Given the description of an element on the screen output the (x, y) to click on. 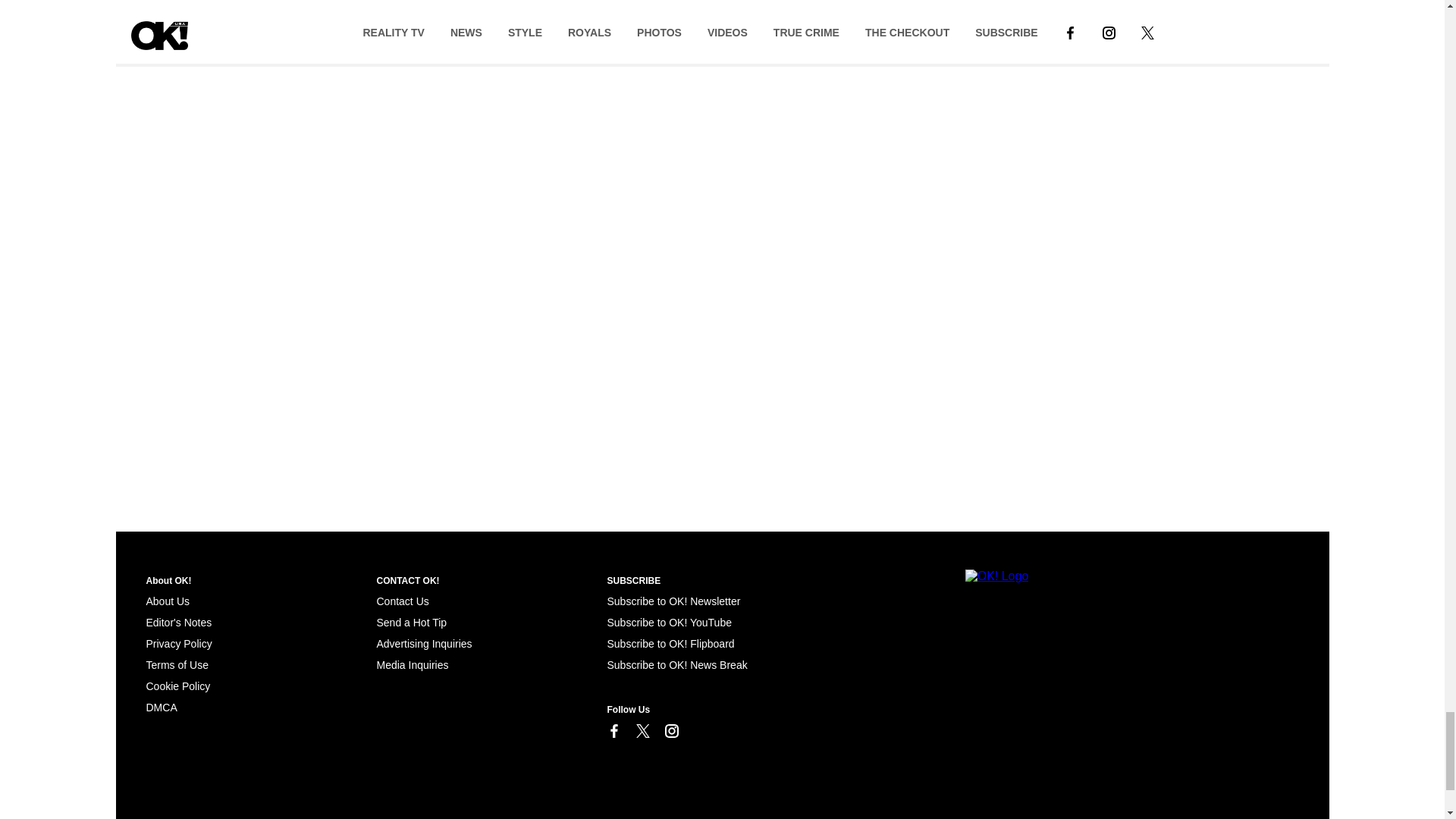
Cookie Policy (177, 686)
Editor's Notes (178, 622)
About Us (167, 601)
Cookie Policy (160, 707)
Link to Facebook (613, 730)
Privacy Policy (178, 644)
Link to X (641, 730)
Link to Instagram (670, 730)
Advertising Inquiries (423, 644)
Contact Us (401, 601)
